Given the description of an element on the screen output the (x, y) to click on. 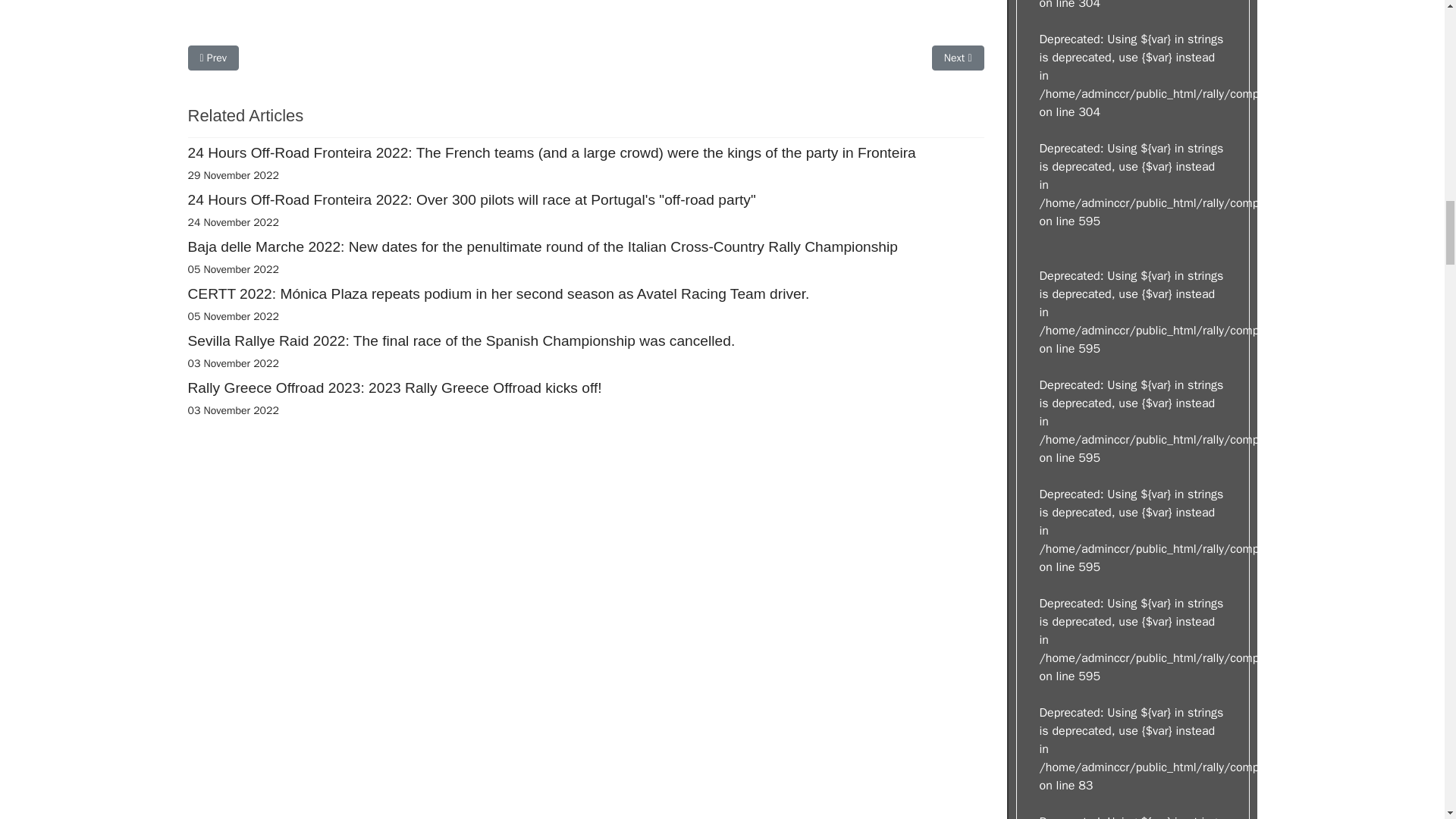
Published: 29 November 2022 (233, 174)
Published: 03 November 2022 (233, 410)
Published: 05 November 2022 (233, 316)
Published: 03 November 2022 (233, 363)
Published: 05 November 2022 (233, 269)
Published: 24 November 2022 (233, 222)
